Given the description of an element on the screen output the (x, y) to click on. 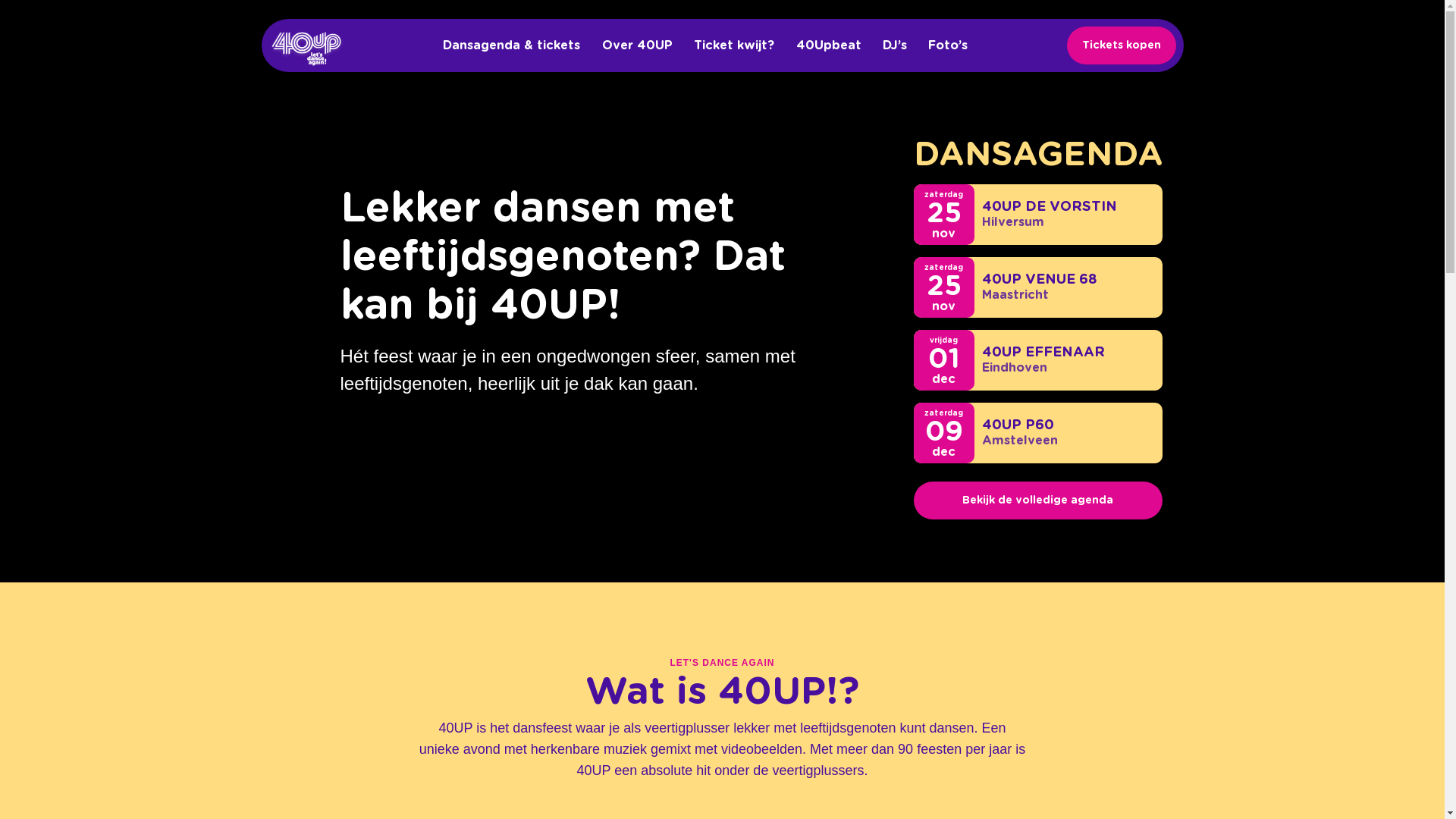
40UP Element type: hover (306, 48)
40Upbeat Element type: text (828, 45)
Bekijk de volledige agenda Element type: text (1037, 500)
Ticket kwijt? Element type: text (733, 45)
vrijdag
01
dec
40UP EFFENAAR
Eindhoven Element type: text (1037, 359)
zaterdag
25
nov
40UP VENUE 68
Maastricht Element type: text (1037, 287)
Dansagenda & tickets Element type: text (511, 45)
zaterdag
25
nov
40UP DE VORSTIN
Hilversum Element type: text (1037, 214)
zaterdag
09
dec
40UP P60
Amstelveen Element type: text (1037, 432)
Tickets kopen Element type: text (1120, 45)
Over 40UP Element type: text (637, 45)
